Given the description of an element on the screen output the (x, y) to click on. 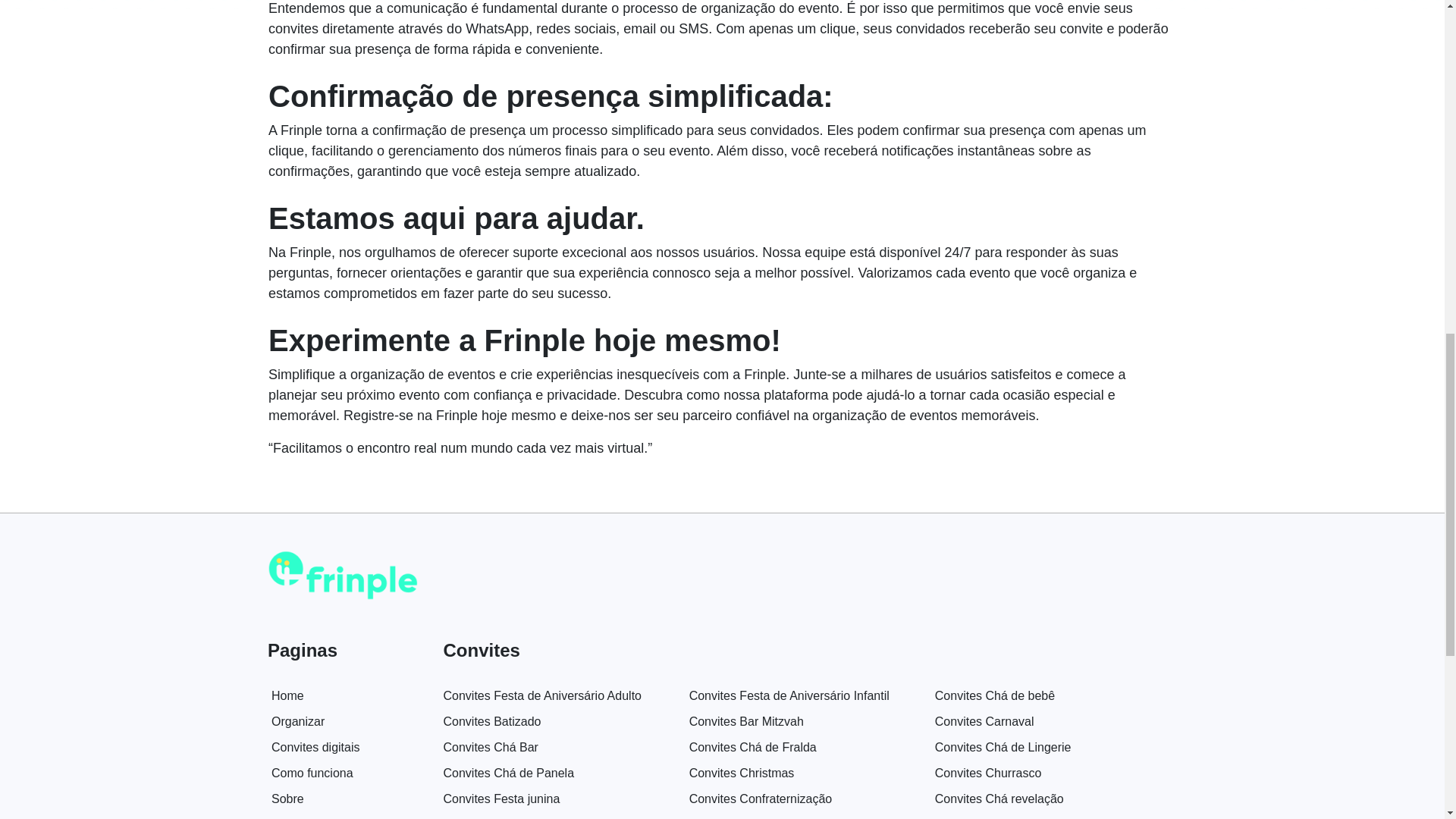
Convites Carnaval (983, 721)
Convites Festa junina (500, 798)
Sobre (287, 798)
Contactos (298, 818)
Convites digitais (314, 747)
Convites Christmas (741, 772)
Convites Churrasco (988, 772)
Convites Batizado (491, 721)
Como funciona (311, 772)
Convites Bar Mitzvah (745, 721)
Organizar (297, 721)
Home (287, 695)
